Given the description of an element on the screen output the (x, y) to click on. 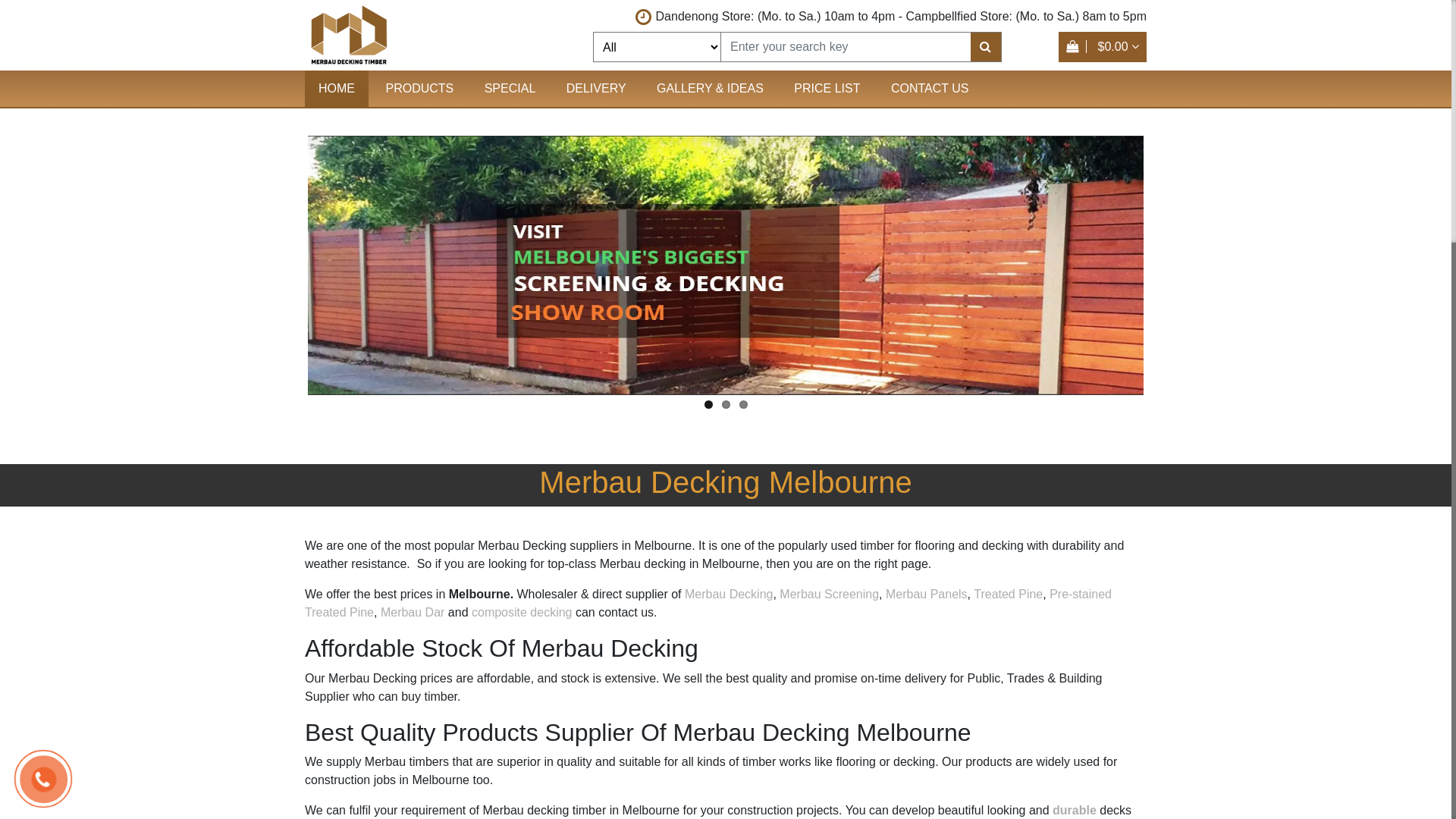
Merbau Screening Element type: text (828, 593)
DELIVERY Element type: text (596, 88)
Merbau Decking Element type: hover (348, 34)
Merbau Decking Element type: hover (725, 265)
PRODUCTS Element type: text (419, 88)
GALLERY & IDEAS Element type: text (710, 88)
Treated Pine Element type: text (1007, 593)
Merbau Dar Element type: text (412, 611)
composite decking Element type: text (521, 611)
Merbau Decking Element type: text (726, 593)
Merbau Panels Element type: text (926, 593)
HOME Element type: text (336, 88)
3 Element type: text (742, 404)
2 Element type: text (725, 404)
Pre-stained Treated Pine Element type: text (707, 602)
PRICE LIST Element type: text (826, 88)
SPECIAL Element type: text (509, 88)
1 Element type: text (707, 404)
durable Element type: text (1074, 809)
CONTACT US Element type: text (929, 88)
